Given the description of an element on the screen output the (x, y) to click on. 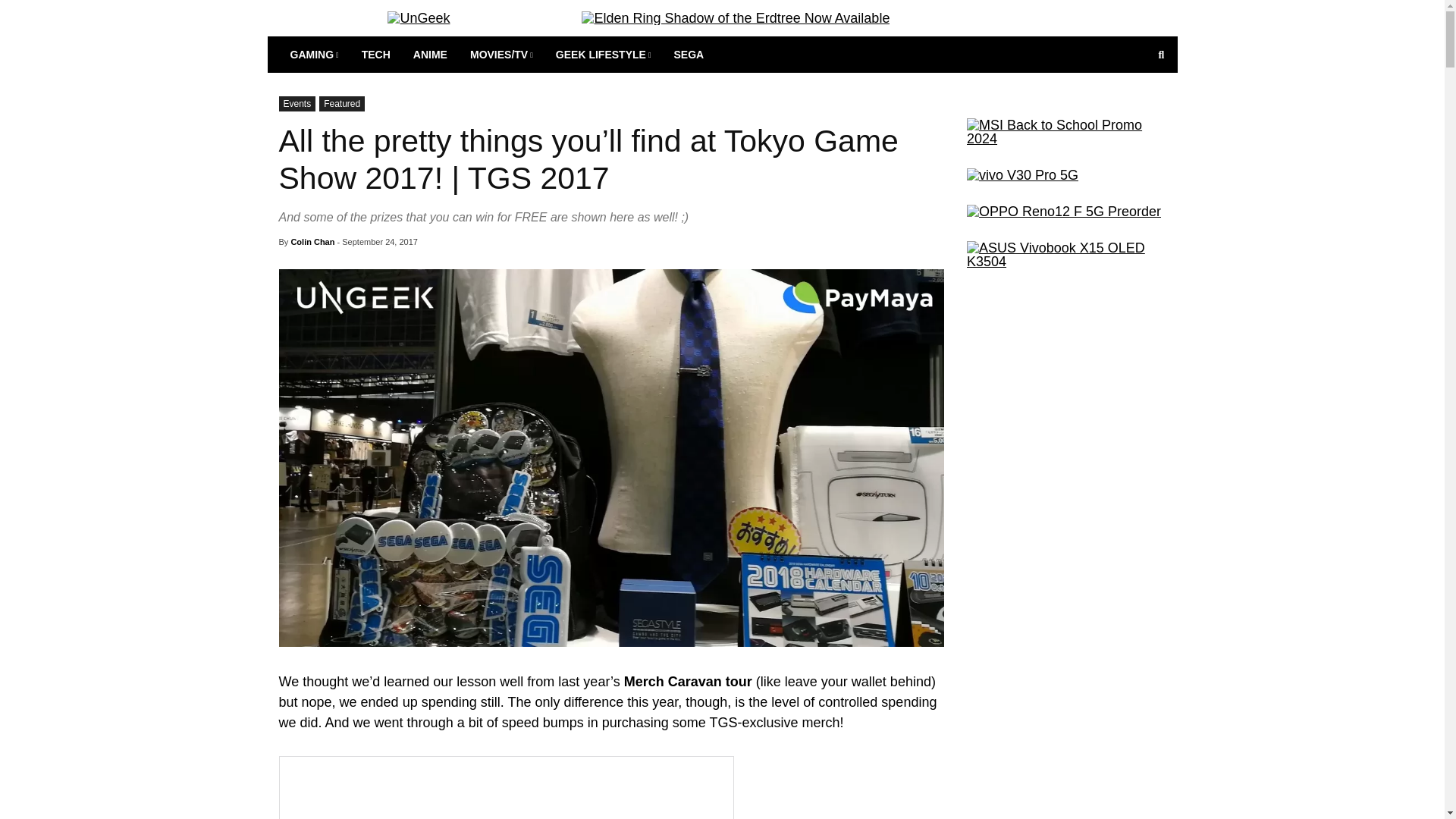
SEGA (689, 54)
UnGeek (419, 18)
September 24, 2017 (379, 241)
Posts by Colin Chan (311, 241)
Events (297, 103)
TECH (375, 54)
Featured (341, 103)
Colin Chan (311, 241)
GAMING (314, 54)
ANIME (429, 54)
